Given the description of an element on the screen output the (x, y) to click on. 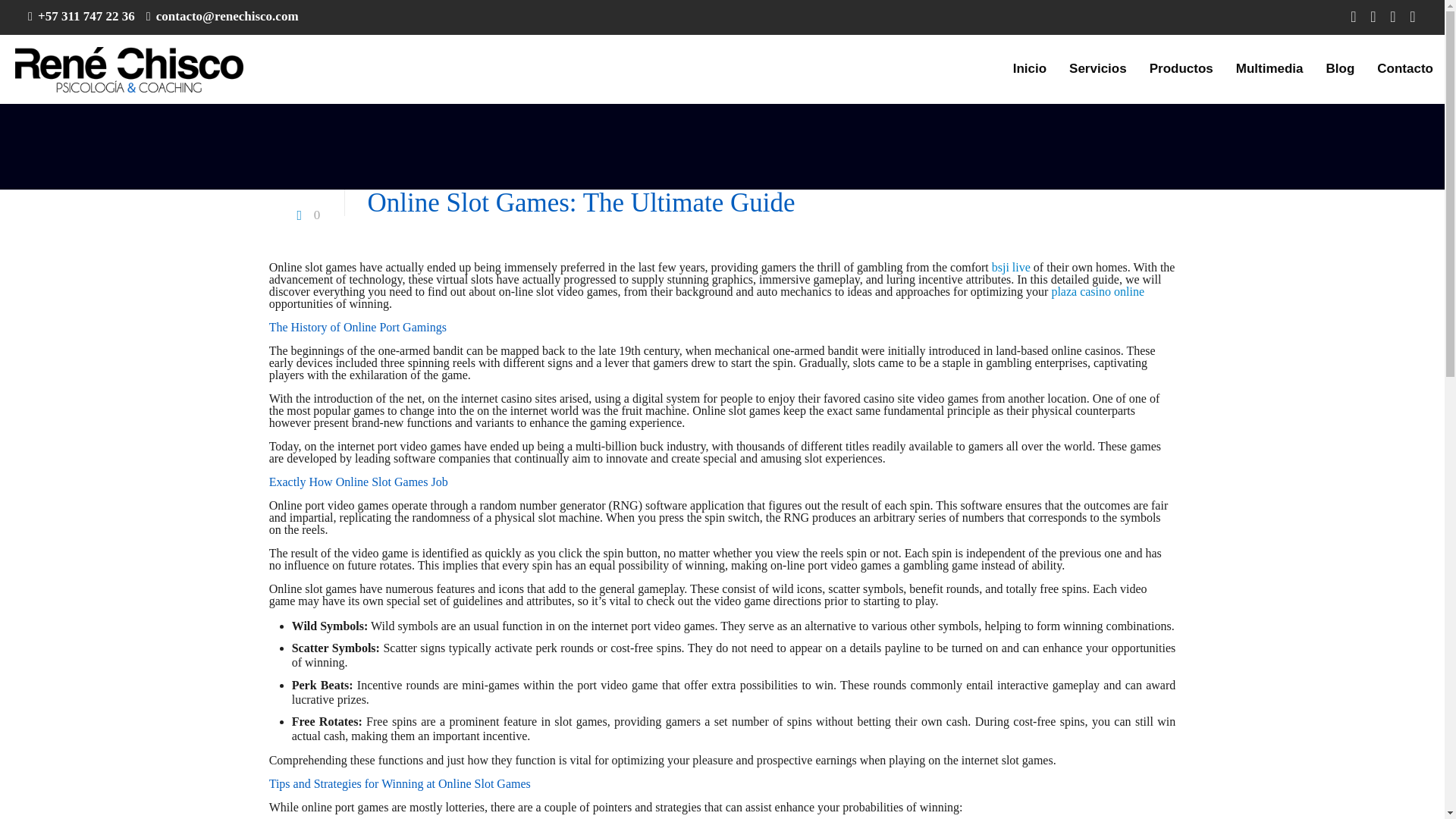
bsji live (1010, 267)
Instagram (1413, 16)
YouTube (1393, 16)
0 (306, 214)
Servicios (1098, 69)
Productos (1181, 69)
Facebook (1353, 16)
Multimedia (1269, 69)
plaza casino online (1097, 291)
